Given the description of an element on the screen output the (x, y) to click on. 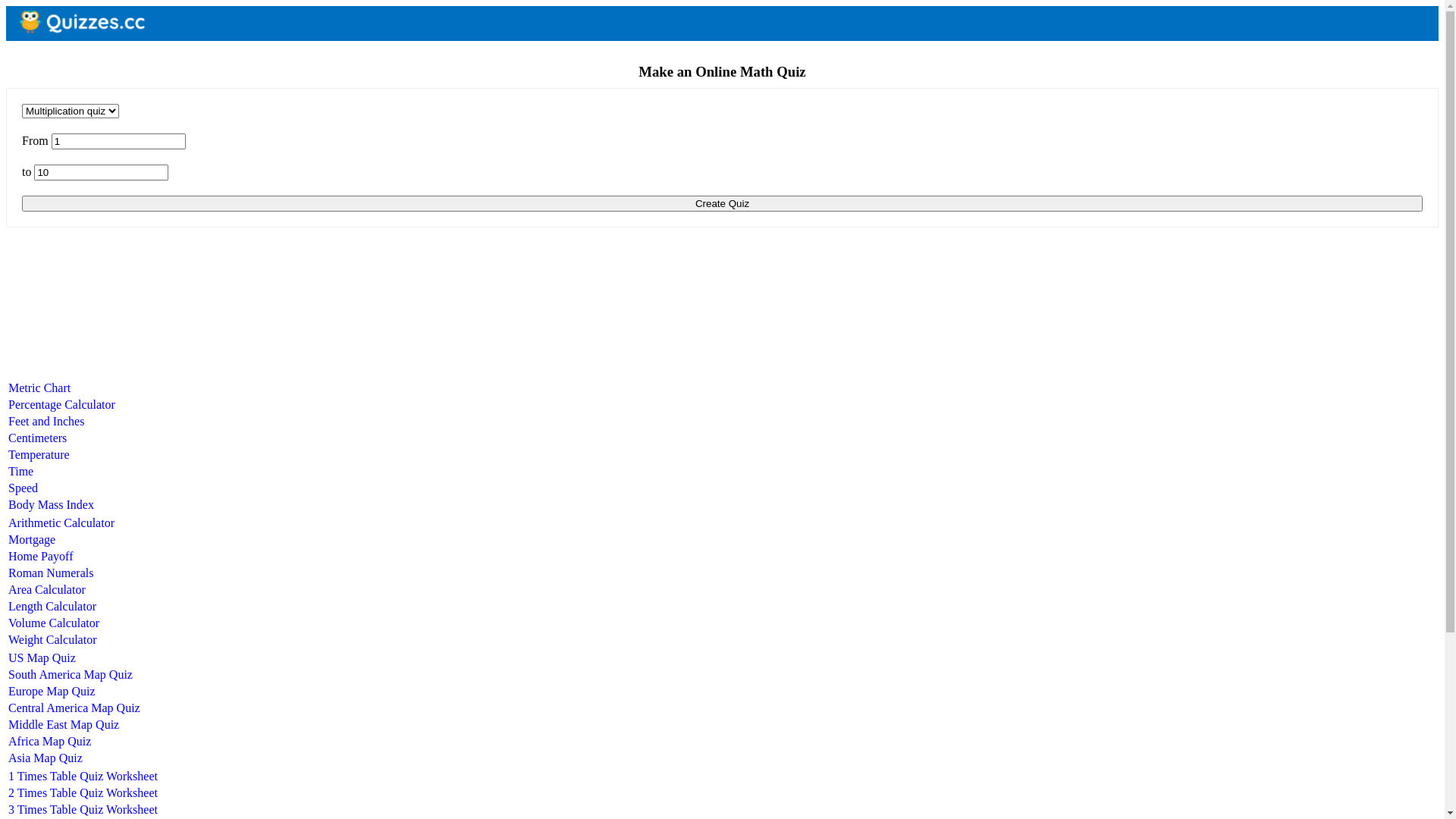
Length Calculator Element type: text (52, 605)
Area Calculator Element type: text (46, 589)
Centimeters Element type: text (37, 437)
Home Payoff Element type: text (40, 555)
Percentage Calculator Element type: text (61, 404)
Feet and Inches Element type: text (46, 420)
2 Times Table Quiz Worksheet Element type: text (82, 792)
Asia Map Quiz Element type: text (45, 757)
Volume Calculator Element type: text (53, 622)
Mortgage Element type: text (31, 539)
Africa Map Quiz Element type: text (49, 740)
Middle East Map Quiz Element type: text (63, 724)
US Map Quiz Element type: text (41, 657)
3 Times Table Quiz Worksheet Element type: text (82, 809)
Speed Element type: text (22, 487)
Weight Calculator Element type: text (52, 639)
Arithmetic Calculator Element type: text (61, 522)
Time Element type: text (20, 470)
Temperature Element type: text (38, 454)
Create Quiz Element type: text (721, 203)
Roman Numerals Element type: text (50, 572)
1 Times Table Quiz Worksheet Element type: text (82, 775)
Europe Map Quiz Element type: text (51, 690)
Metric Chart Element type: text (39, 387)
South America Map Quiz Element type: text (70, 674)
Body Mass Index Element type: text (51, 504)
Central America Map Quiz Element type: text (74, 707)
